Given the description of an element on the screen output the (x, y) to click on. 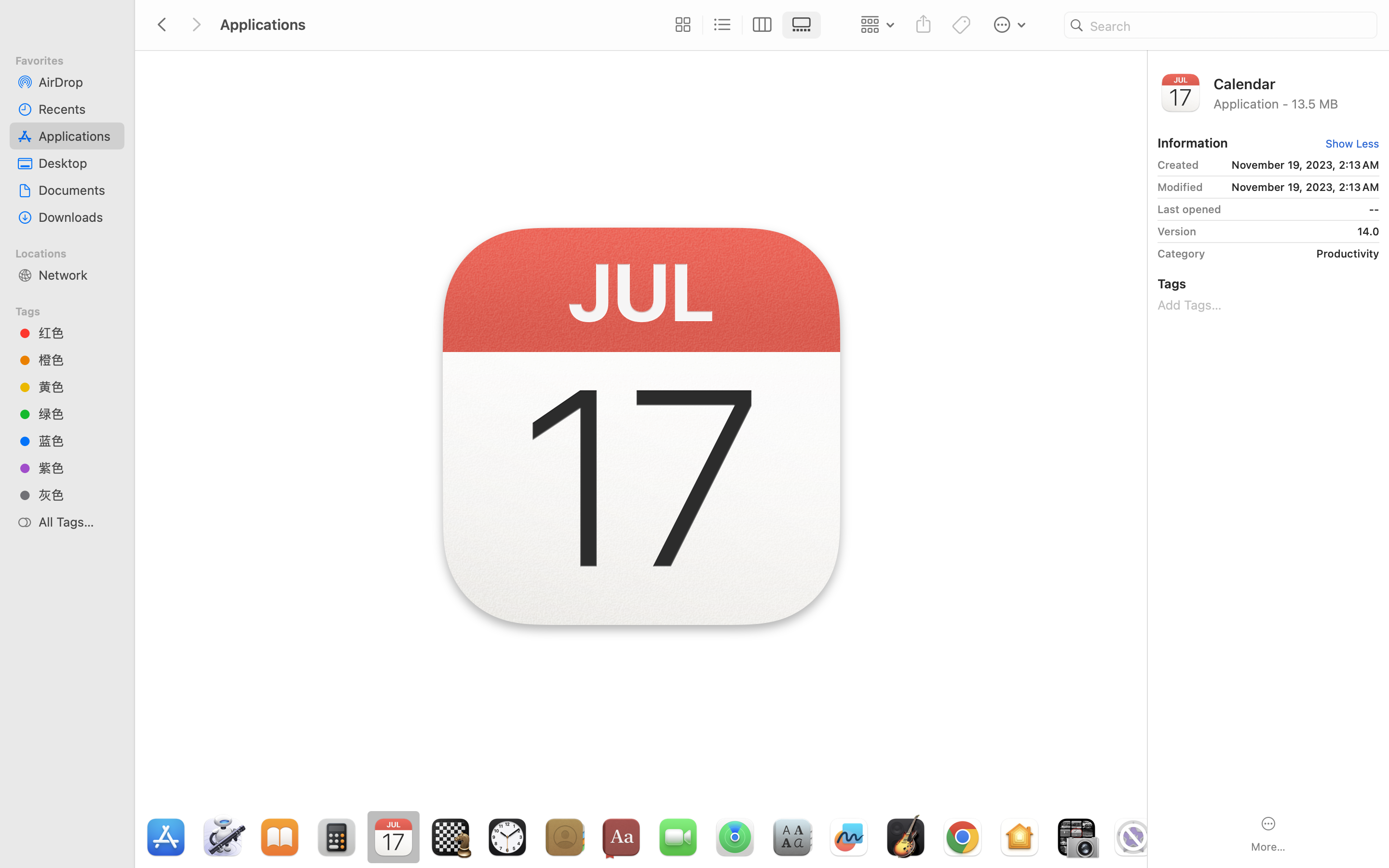
Tags… Element type: AXStaticText (20, 860)
1 Element type: AXCheckBox (1348, 143)
Productivity Element type: AXStaticText (1295, 253)
Last opened Element type: AXStaticText (1189, 209)
蓝色 Element type: AXStaticText (77, 440)
